Given the description of an element on the screen output the (x, y) to click on. 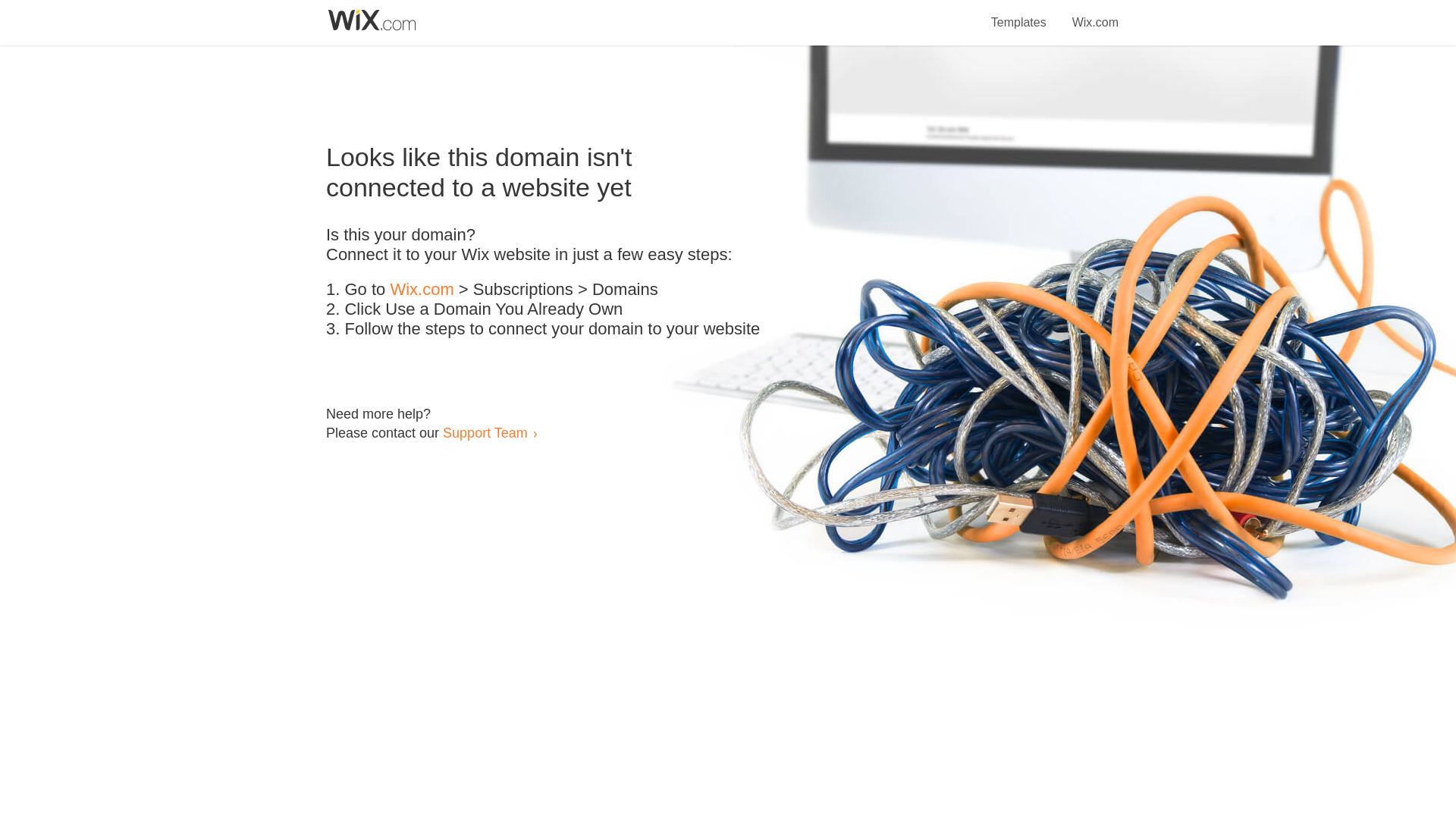
Wix.com (421, 289)
Support Team (484, 432)
Wix.com (1095, 14)
Templates (1018, 14)
